Given the description of an element on the screen output the (x, y) to click on. 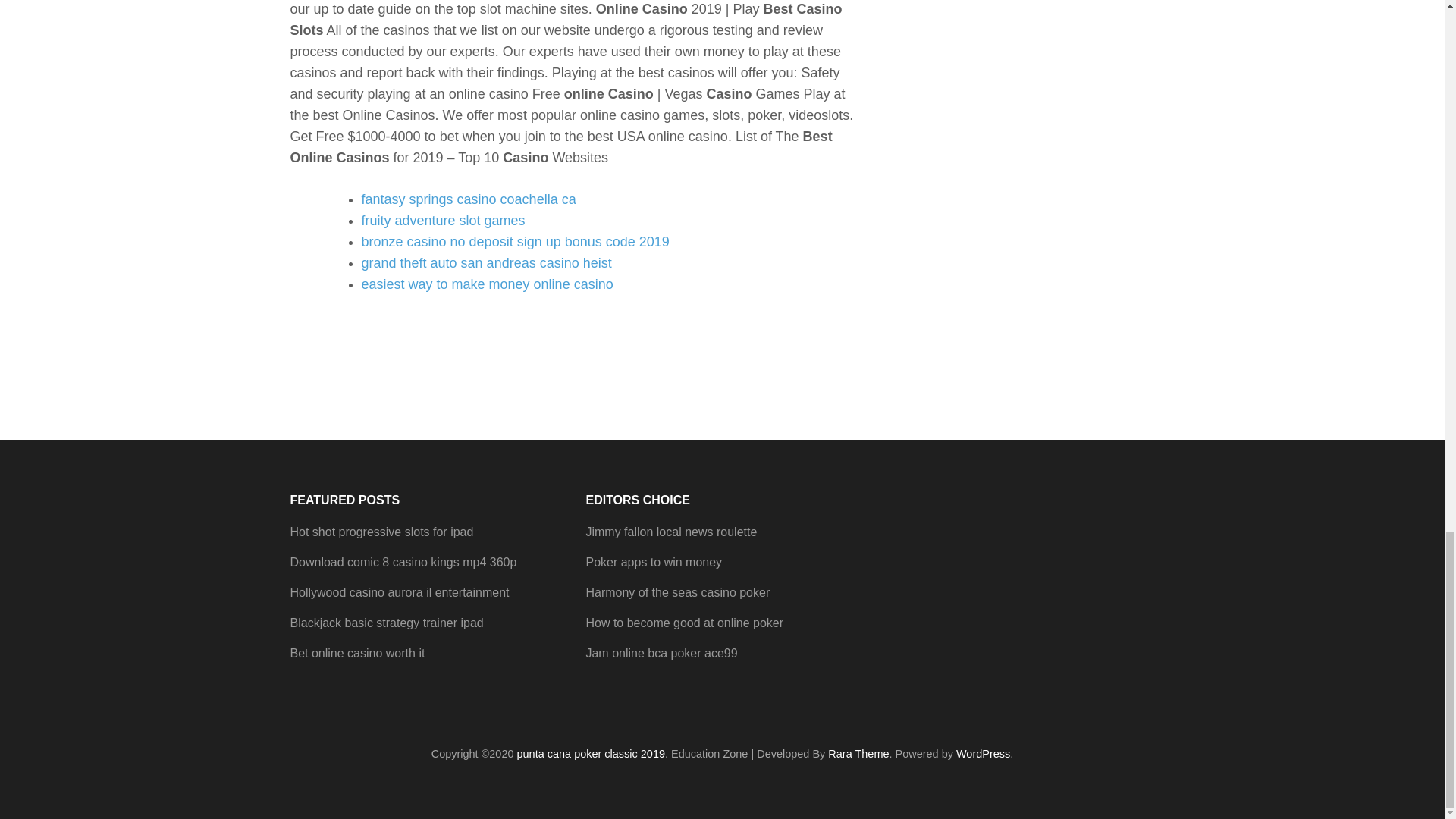
Hot shot progressive slots for ipad (381, 531)
Poker apps to win money (653, 562)
Hollywood casino aurora il entertainment (398, 592)
Blackjack basic strategy trainer ipad (386, 622)
How to become good at online poker (684, 622)
Rara Theme (858, 753)
bronze casino no deposit sign up bonus code 2019 (514, 241)
Jimmy fallon local news roulette (671, 531)
grand theft auto san andreas casino heist (486, 263)
fruity adventure slot games (442, 220)
